Given the description of an element on the screen output the (x, y) to click on. 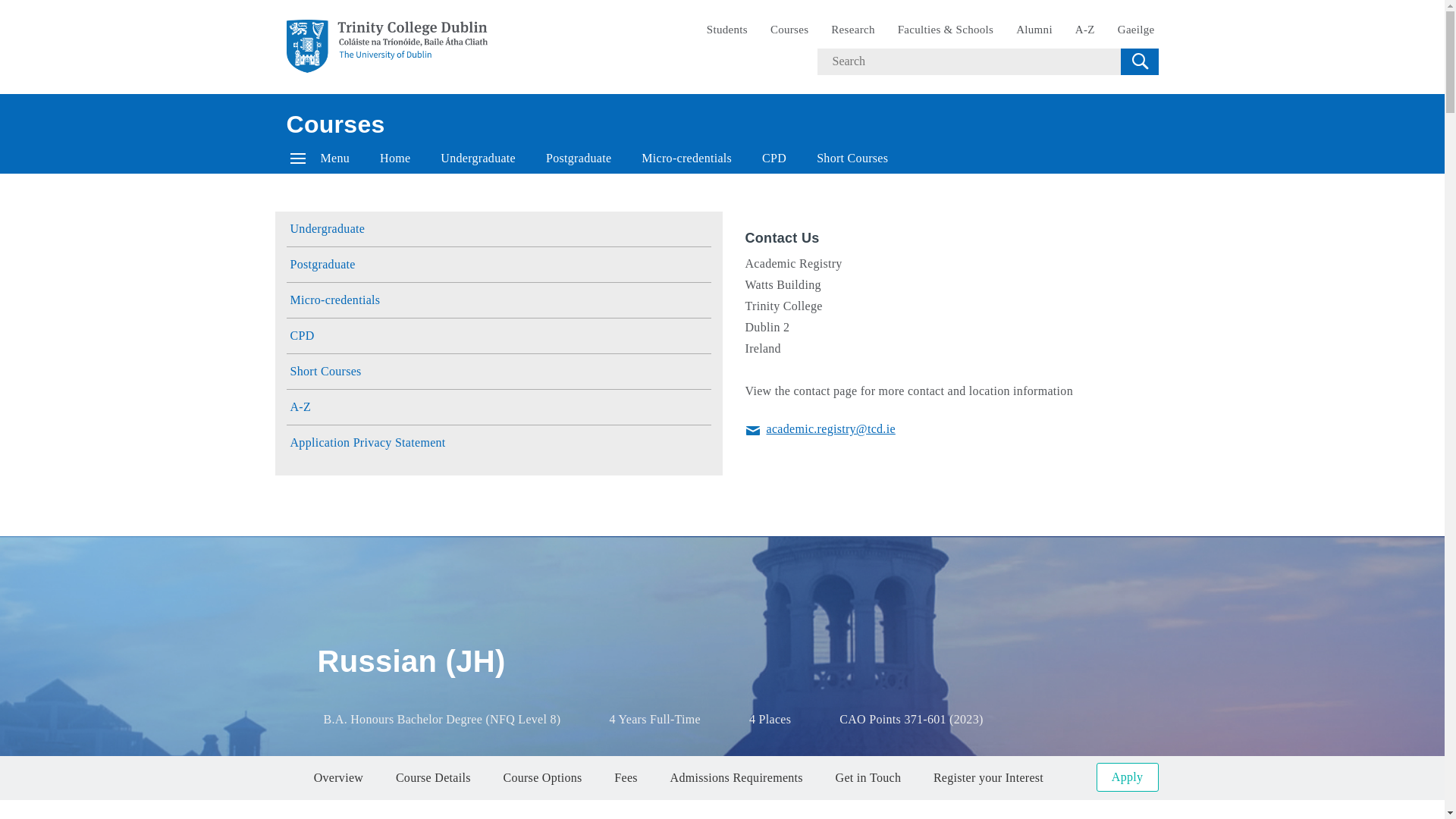
Undergraduate (478, 158)
CPD (774, 158)
Courses (789, 29)
A-Z (1085, 29)
Menu (320, 158)
Courses (335, 123)
Short Courses (852, 158)
Search (1139, 61)
Home (395, 158)
Gaeilge (1135, 29)
